Given the description of an element on the screen output the (x, y) to click on. 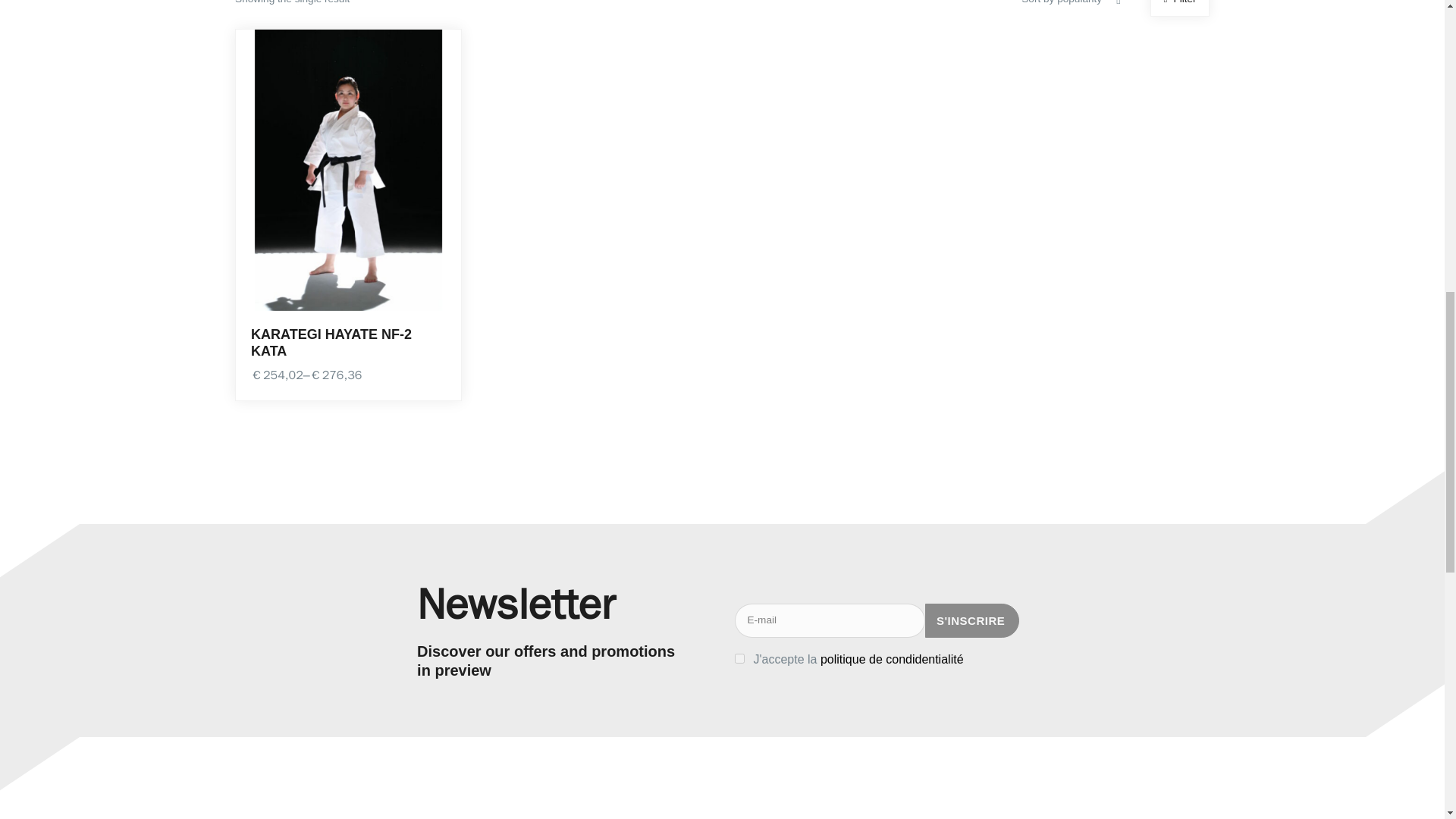
on (738, 658)
s'inscrire (971, 620)
